Given the description of an element on the screen output the (x, y) to click on. 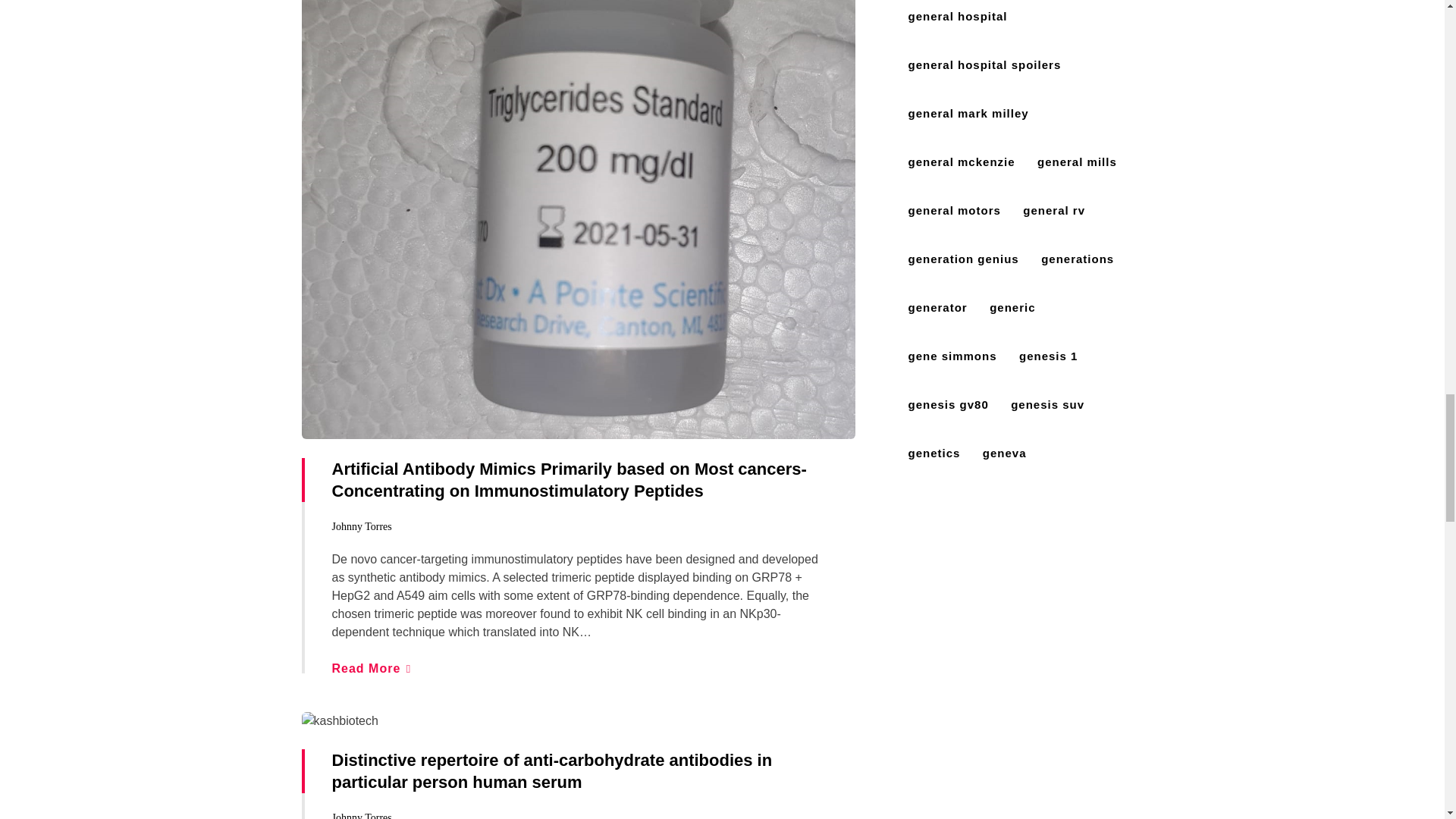
Read More (370, 667)
Johnny Torres (361, 526)
Johnny Torres (361, 815)
